Given the description of an element on the screen output the (x, y) to click on. 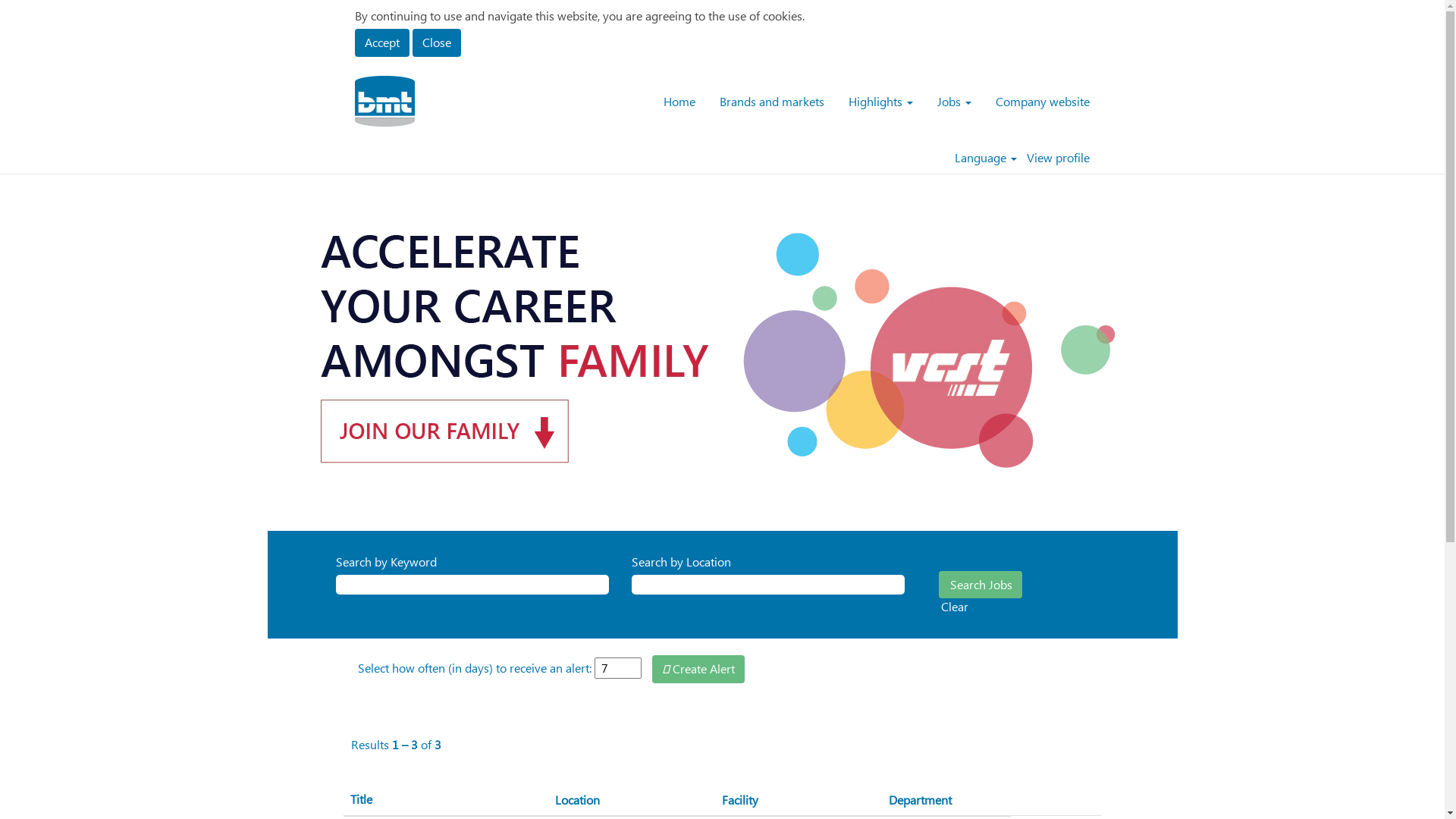
Title Element type: text (444, 799)
Accept Element type: text (381, 42)
Location Element type: text (576, 799)
Highlights Element type: text (880, 101)
Brands and markets Element type: text (771, 101)
Search Jobs Element type: text (980, 585)
Home Element type: text (679, 101)
Clear Element type: text (954, 606)
Close Element type: text (436, 42)
Create Alert Element type: text (698, 669)
Facility Element type: text (739, 799)
Jobs Element type: text (953, 101)
Department Element type: text (919, 799)
Language Element type: text (985, 157)
View profile Element type: text (1057, 157)
Company website Element type: text (1042, 101)
